Given the description of an element on the screen output the (x, y) to click on. 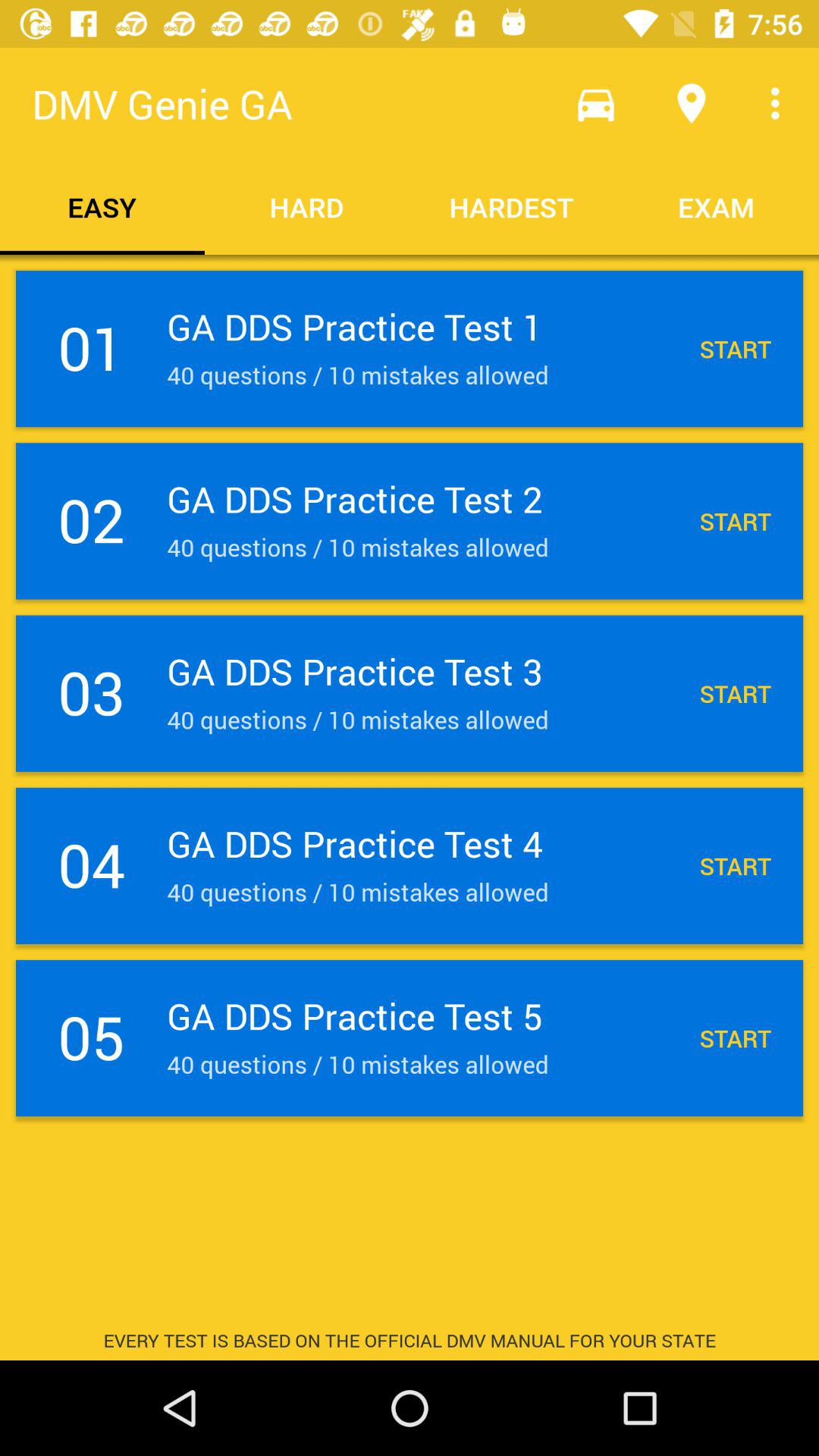
turn on the item above exam (779, 103)
